Given the description of an element on the screen output the (x, y) to click on. 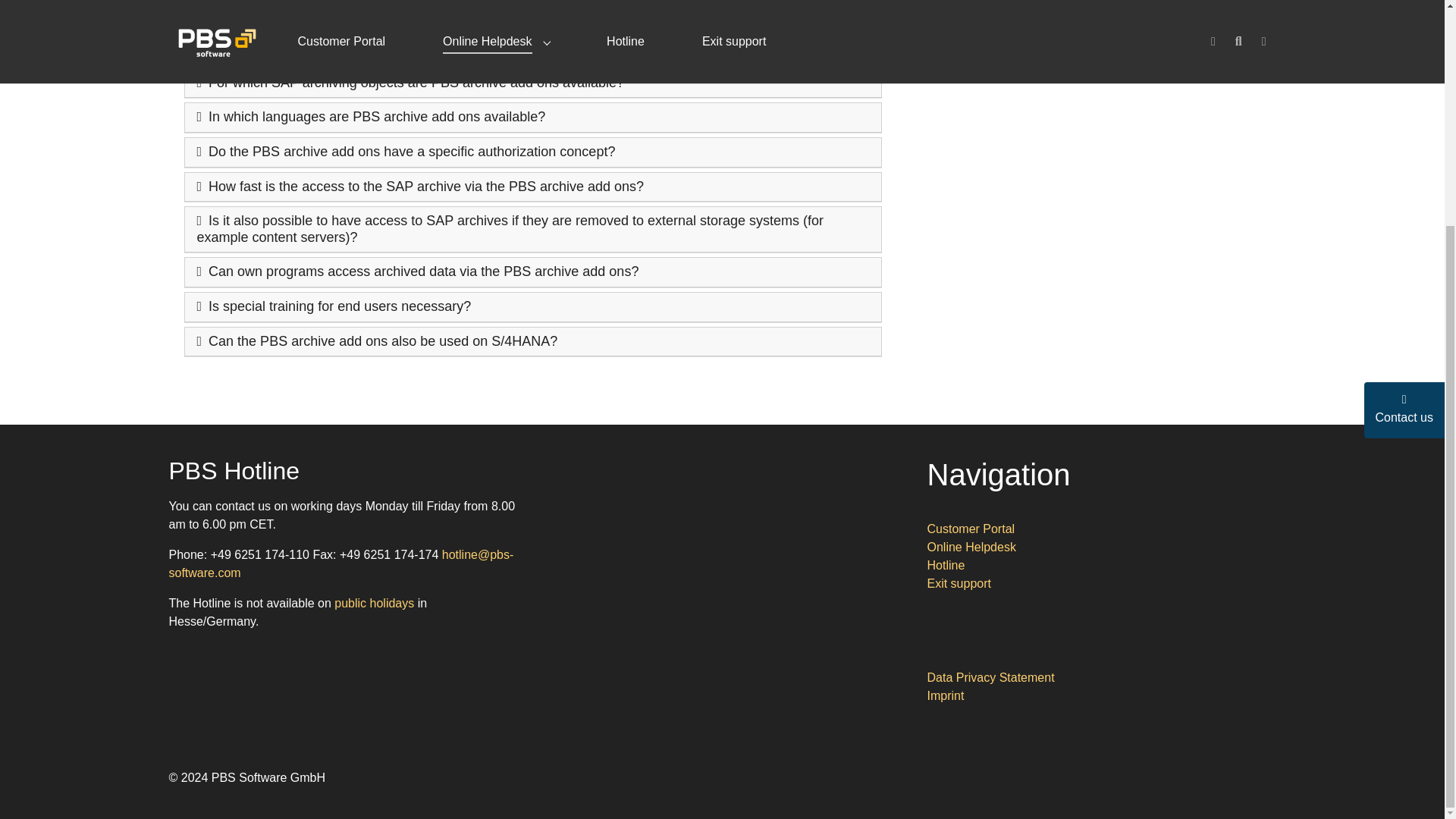
Hotline (944, 564)
Installation and Upgrade in the SAP System (1059, 62)
Exit support (958, 583)
Hotline (944, 564)
Online Helpdesk (970, 546)
Customer Portal (970, 528)
Exit support (958, 583)
PBS archive add ons (998, 13)
Online Helpdesk (970, 546)
Imprint (944, 695)
